Given the description of an element on the screen output the (x, y) to click on. 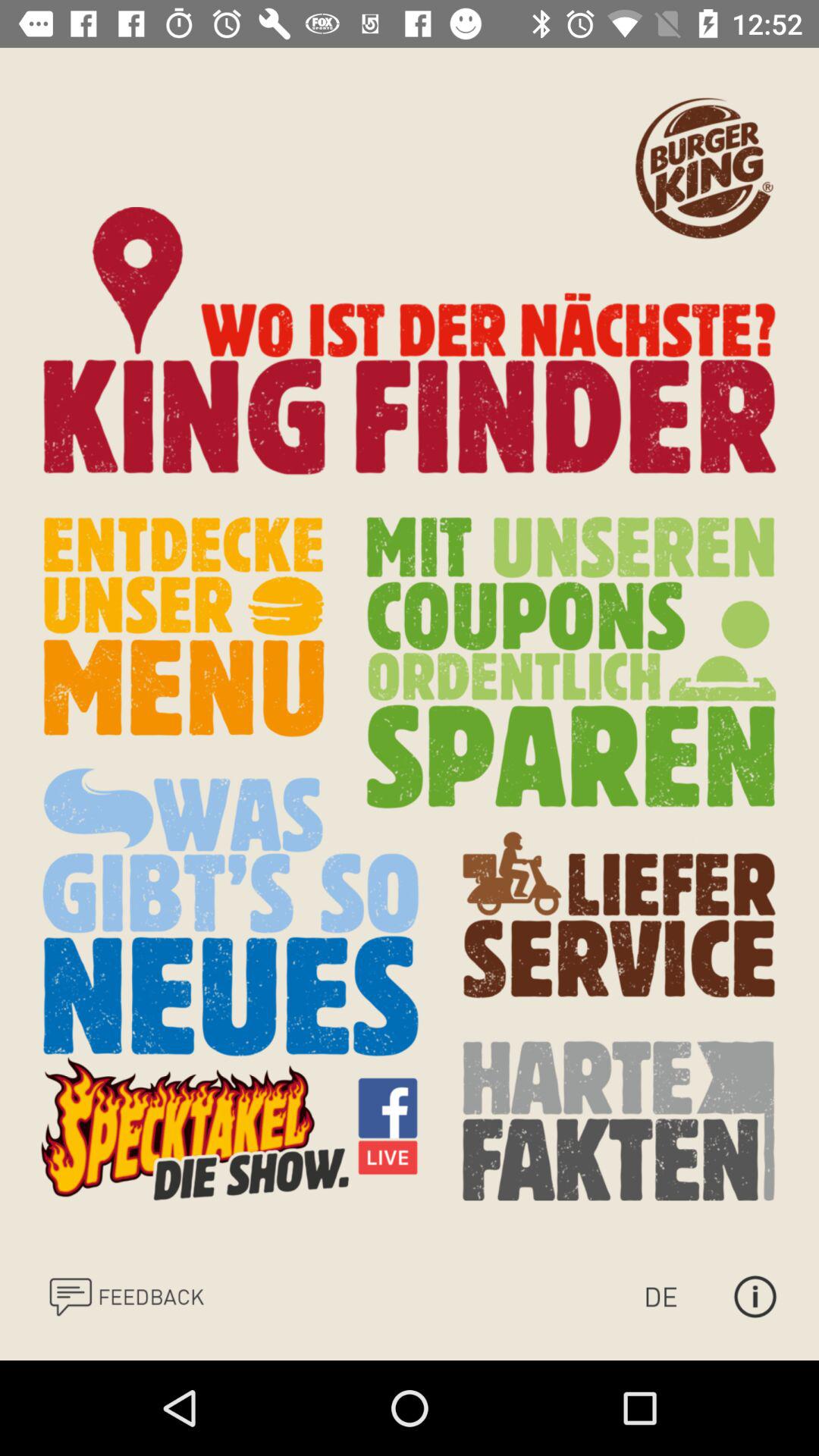
leave feedback (126, 1296)
